Given the description of an element on the screen output the (x, y) to click on. 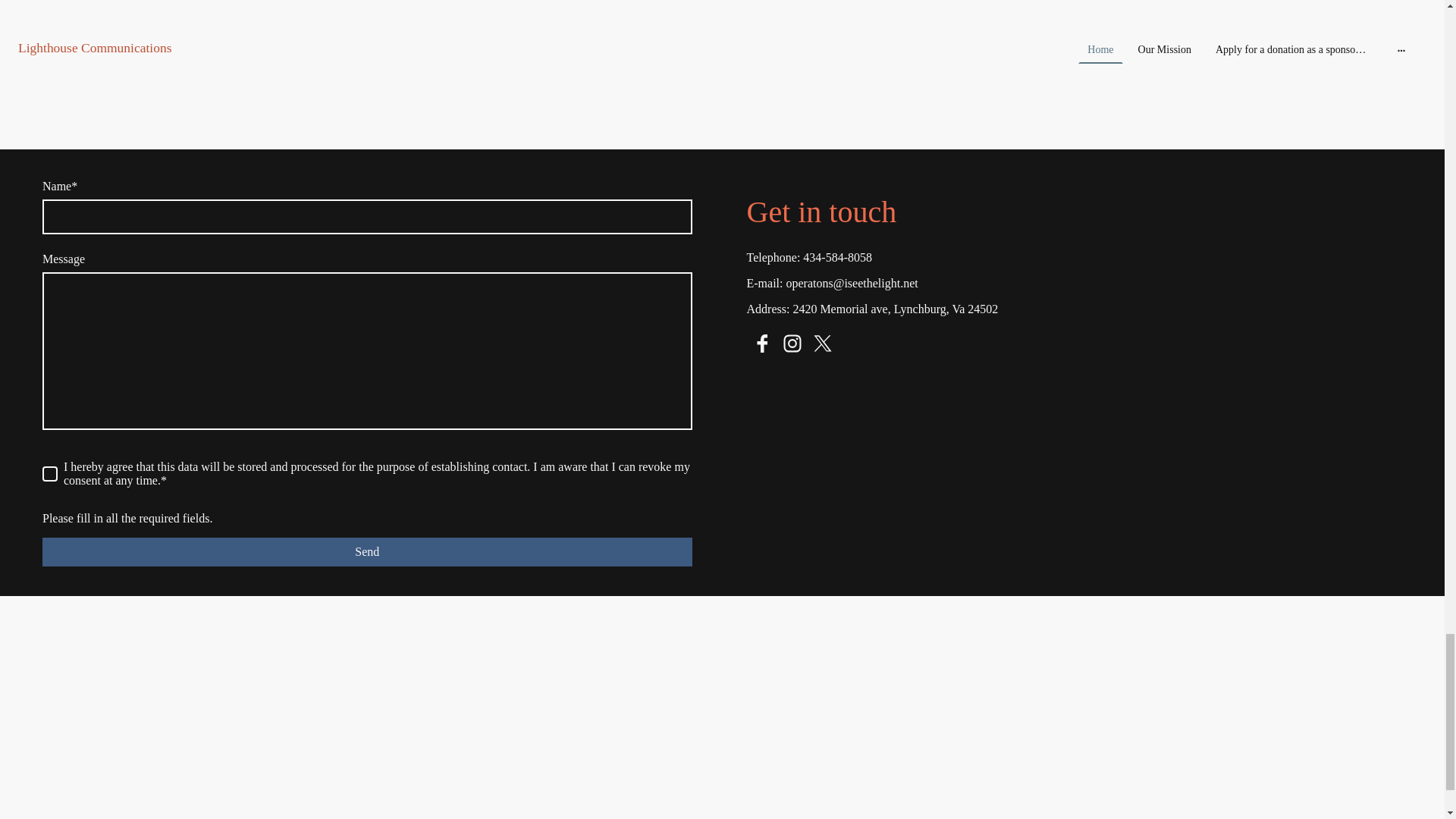
Send (367, 551)
